Given the description of an element on the screen output the (x, y) to click on. 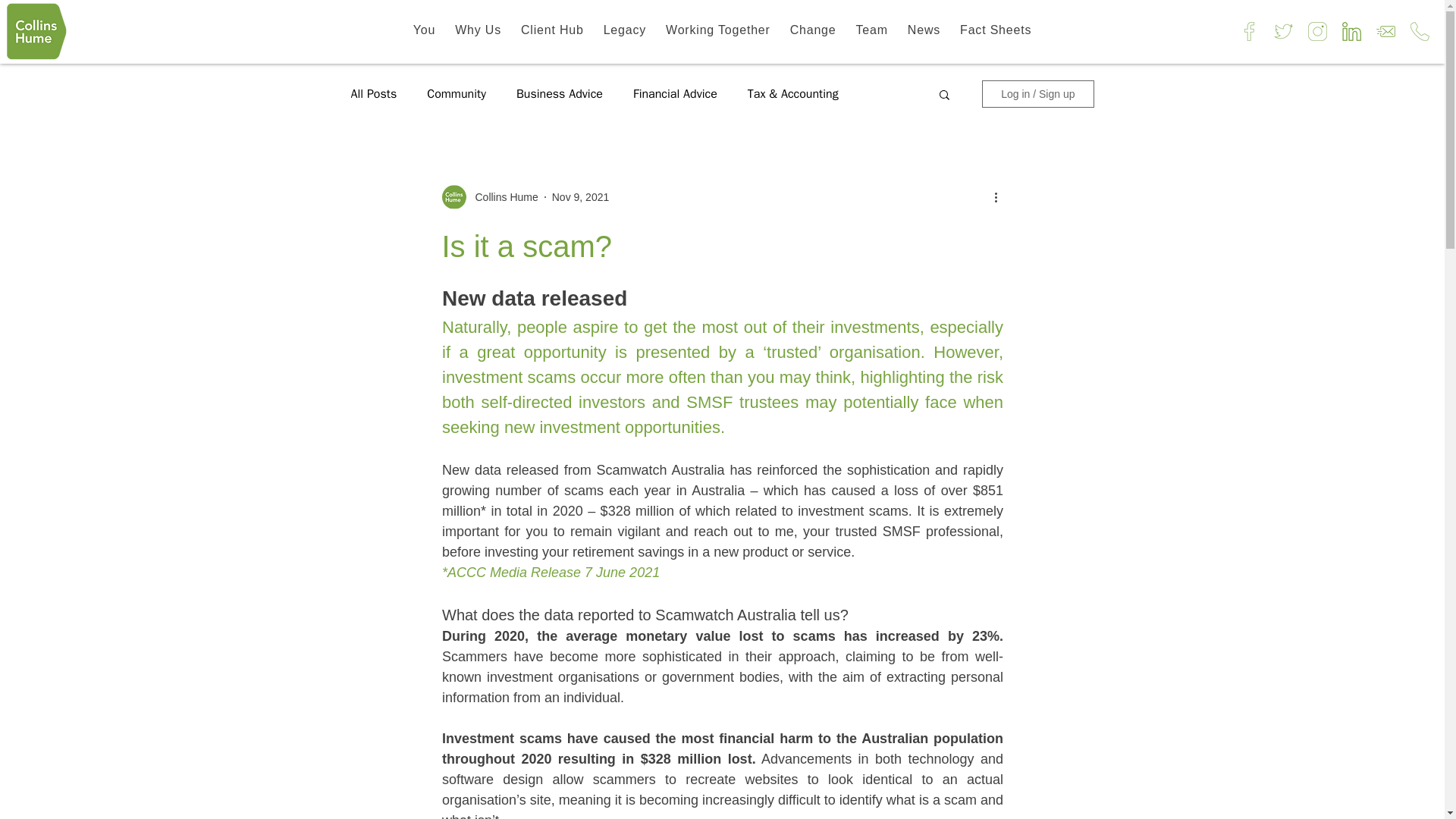
You (424, 30)
Working Together (717, 30)
Community (456, 94)
Fact Sheets (995, 30)
Business Advice (559, 94)
News (923, 30)
Collins Hume (489, 197)
Team (871, 30)
Collins Hume (501, 197)
Nov 9, 2021 (580, 196)
Financial Advice (675, 94)
Why Us (477, 30)
All Posts (373, 94)
Change (813, 30)
Client Hub (552, 30)
